Given the description of an element on the screen output the (x, y) to click on. 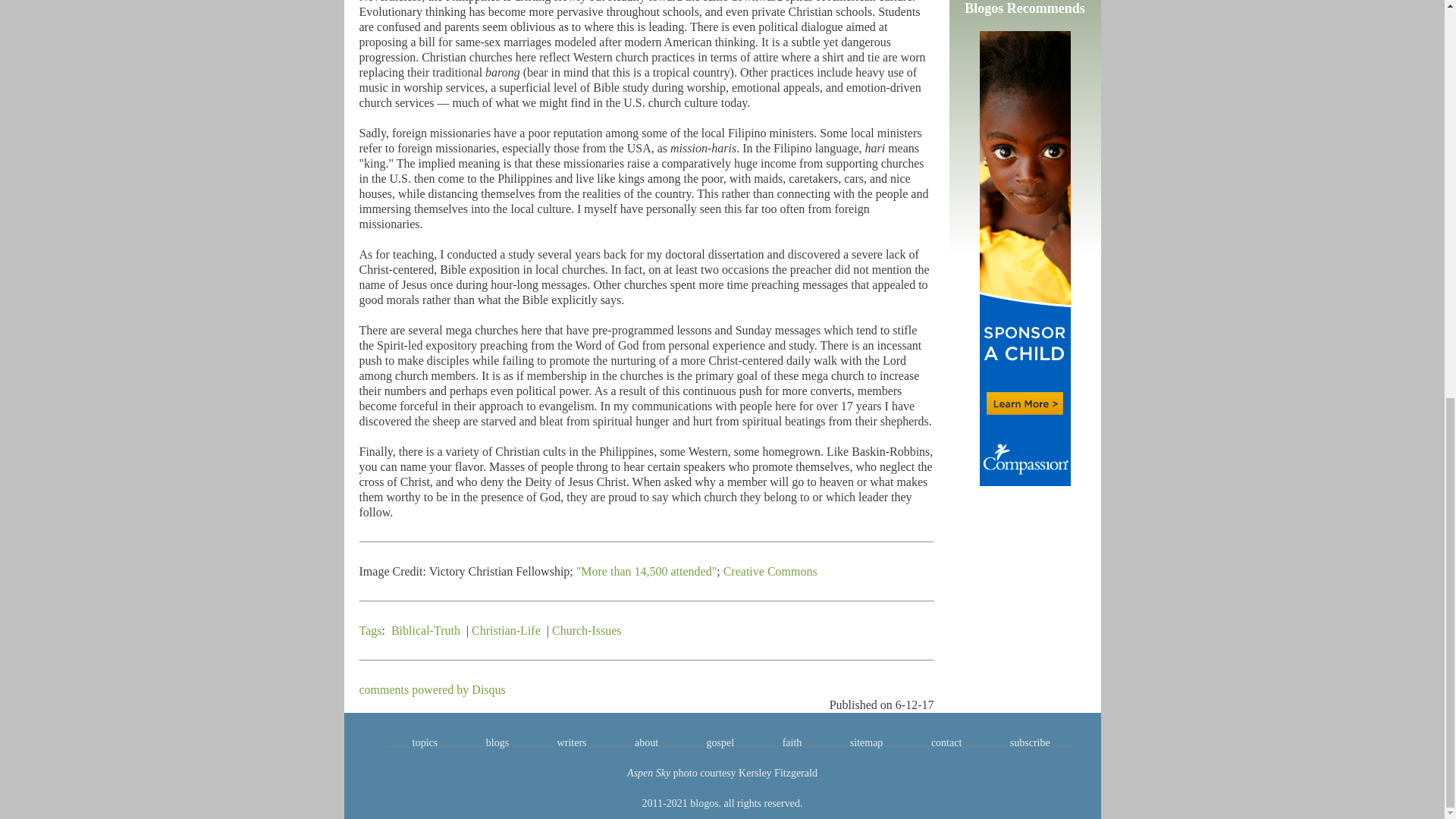
subscribe (1029, 742)
Creative Commons (769, 571)
blogs (497, 742)
Christian-Life (505, 630)
writers (571, 742)
Tags (370, 630)
topics (425, 742)
Biblical-Truth (425, 630)
gospel (720, 742)
Sponsor a Child in Jesus Name with Compassion (1024, 258)
contact (945, 742)
sitemap (866, 742)
faith (792, 742)
comments powered by Disqus (432, 689)
about (646, 742)
